Given the description of an element on the screen output the (x, y) to click on. 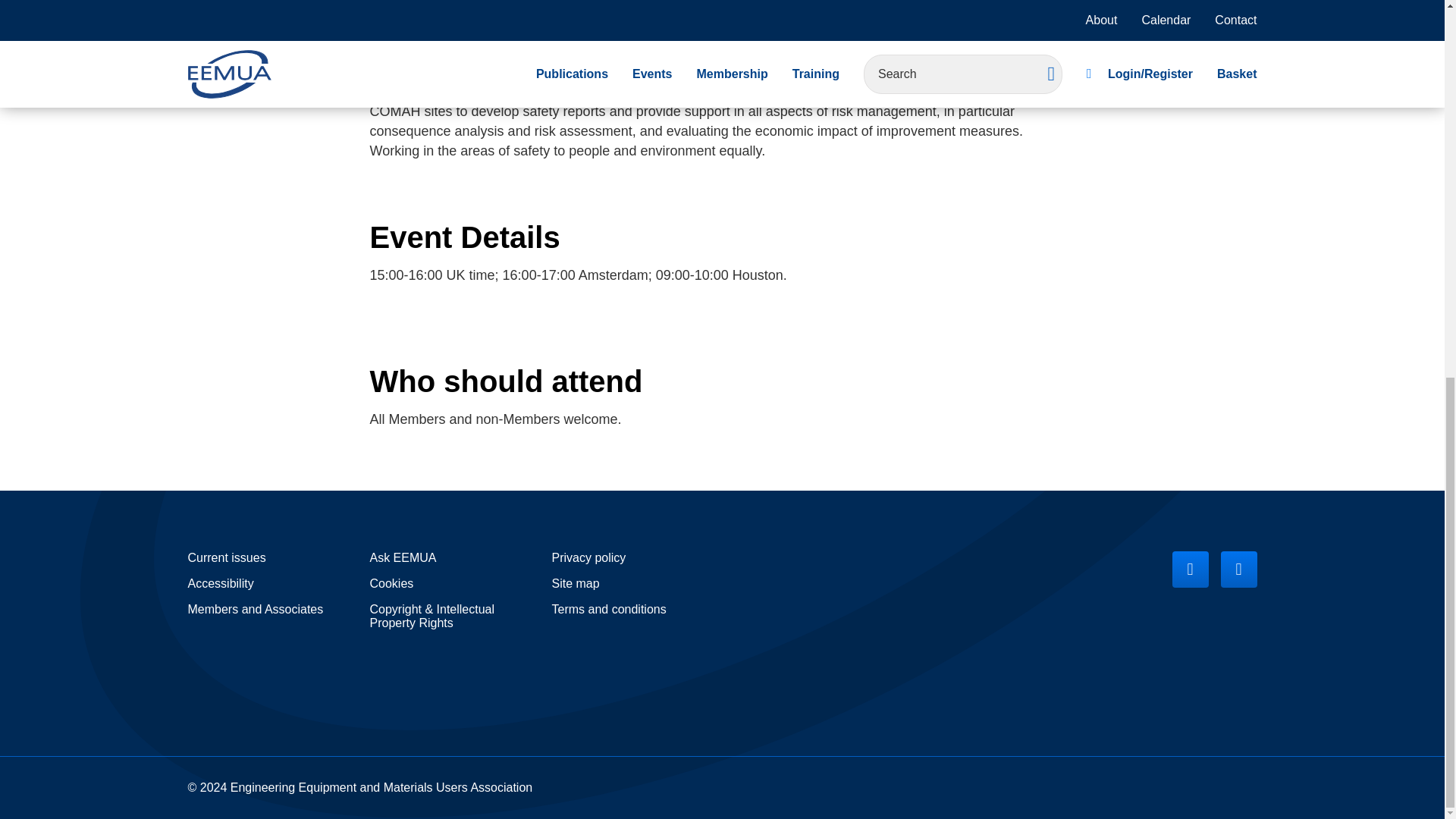
Visit our LinkedIn page (1239, 569)
Terms and conditions (608, 609)
Cookies (391, 583)
Current issues (226, 558)
Privacy policy (588, 558)
Accessibility (220, 583)
Listen to our podcast (1190, 569)
Members and Associates (255, 609)
Site map (575, 583)
Ask EEMUA (402, 558)
